Given the description of an element on the screen output the (x, y) to click on. 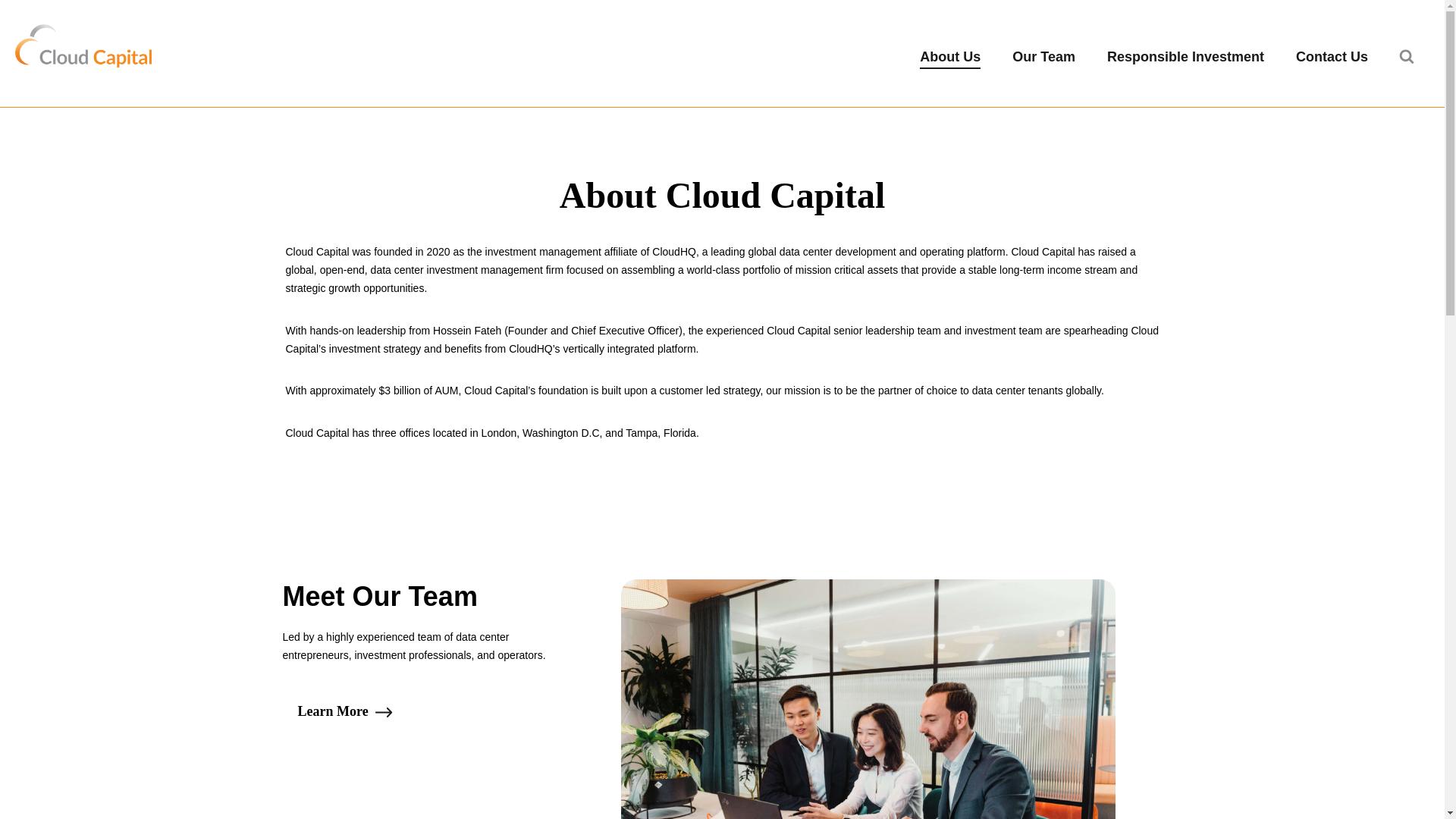
Contact Us (1331, 56)
Responsible Investment (1184, 56)
About Us (949, 56)
Our Team (1042, 56)
Learn More (346, 711)
